Given the description of an element on the screen output the (x, y) to click on. 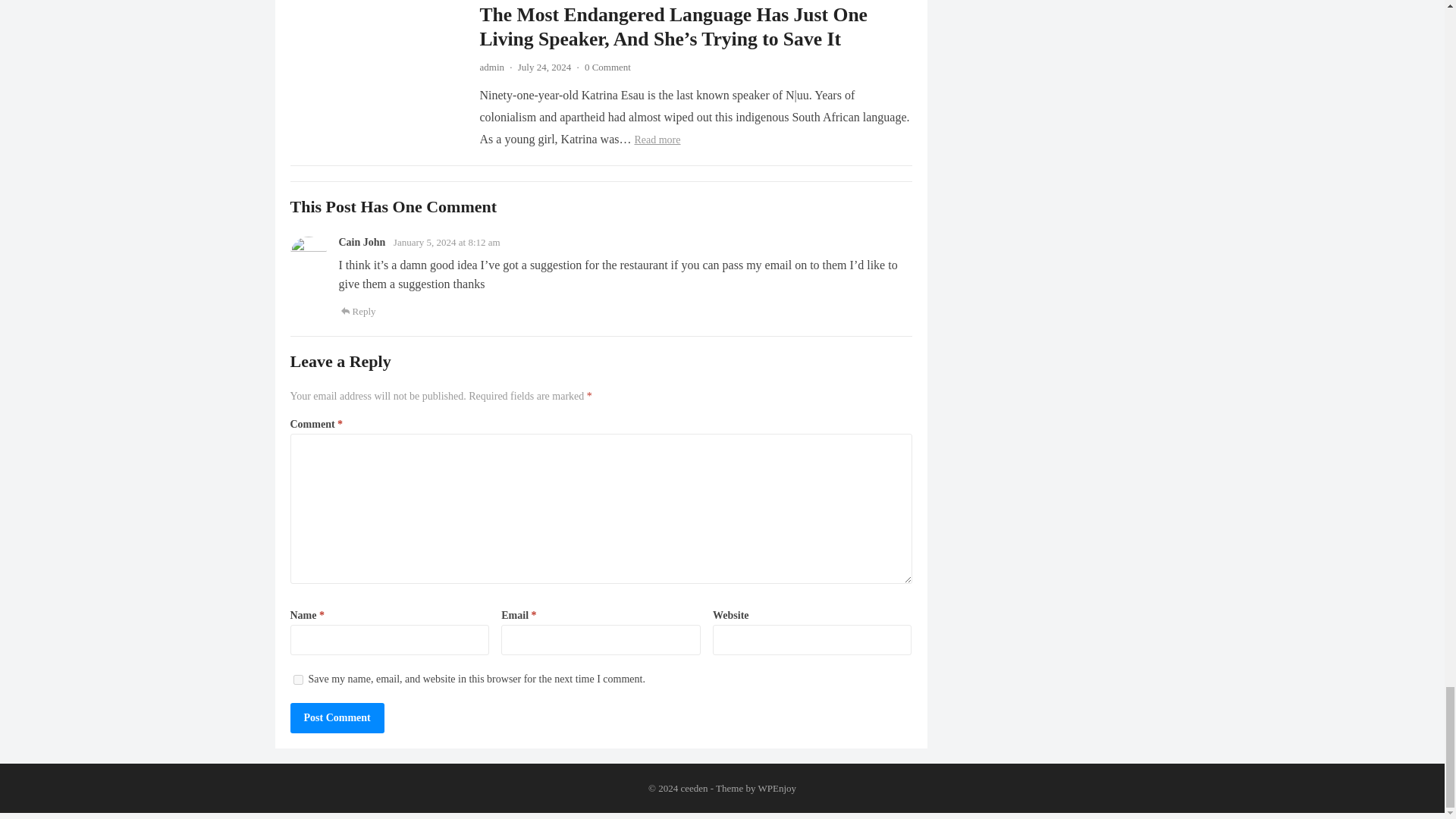
Post Comment (336, 717)
Posts by admin (491, 66)
yes (297, 679)
